Given the description of an element on the screen output the (x, y) to click on. 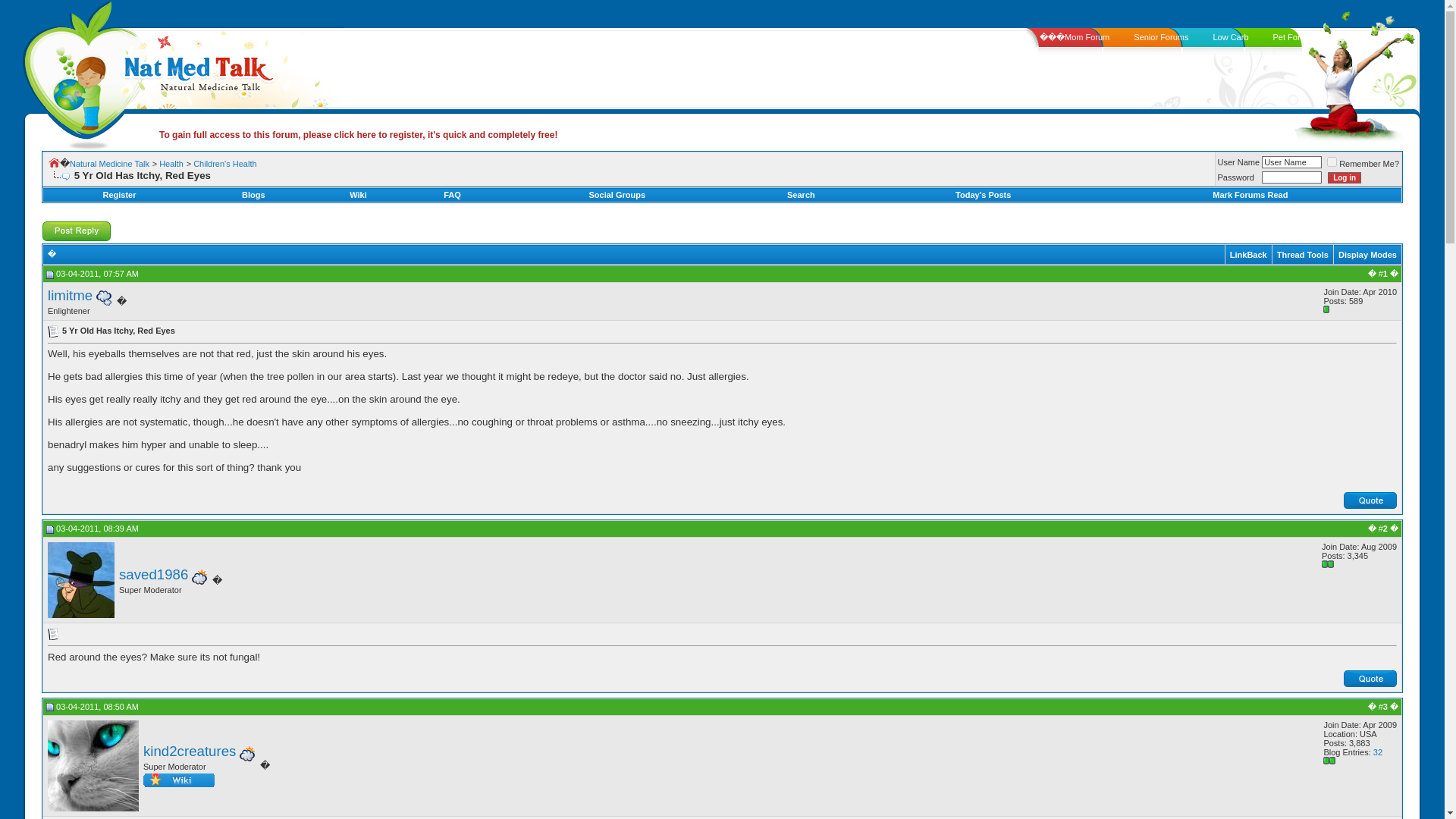
Thread Tools (1301, 254)
Social Groups (616, 194)
Old (49, 529)
FAQ (452, 194)
LowCarbSite.com - Low Carb Forums (1229, 36)
Health (170, 163)
Senior Forums (1160, 36)
Go Back (53, 162)
Log in (1344, 177)
LinkBack (1248, 254)
Reload this Page (59, 175)
Mark Forums Read (1249, 194)
Default (53, 331)
Search (801, 194)
Pet Forums (1293, 36)
